Given the description of an element on the screen output the (x, y) to click on. 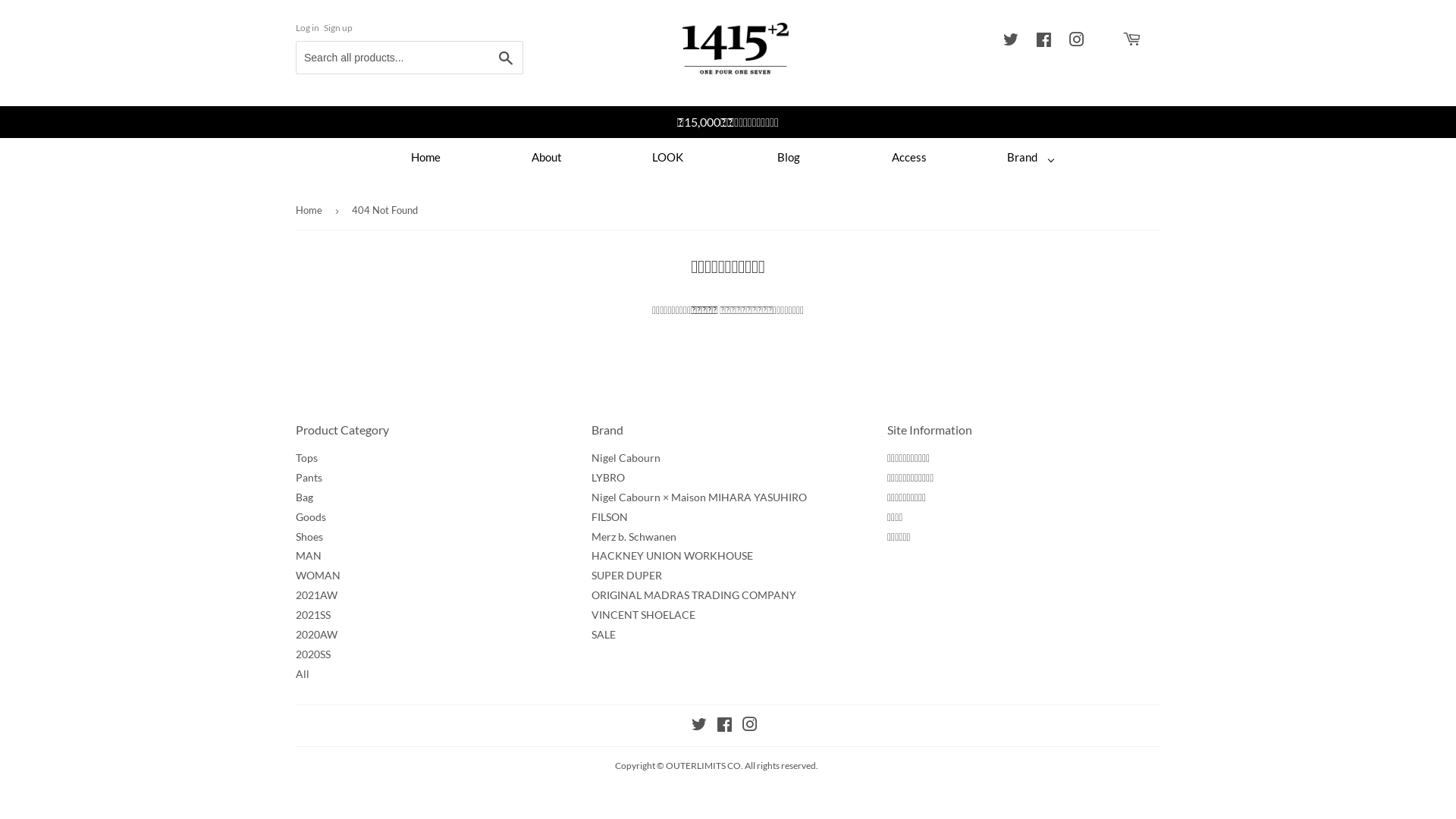
Facebook Element type: text (1043, 40)
Home Element type: text (311, 210)
Bag Element type: text (304, 496)
Twitter Element type: text (698, 725)
ORIGINAL MADRAS TRADING COMPANY Element type: text (693, 594)
MAN Element type: text (308, 555)
Goods Element type: text (310, 516)
WOMAN Element type: text (317, 574)
2020SS Element type: text (312, 653)
Twitter Element type: text (1010, 40)
LOOK Element type: text (667, 156)
FILSON Element type: text (609, 516)
SUPER DUPER Element type: text (626, 574)
Pants Element type: text (308, 476)
HACKNEY UNION WORKHOUSE Element type: text (672, 555)
Facebook Element type: text (723, 725)
Nigel Cabourn Element type: text (625, 457)
Sign up Element type: text (337, 27)
Tops Element type: text (306, 457)
LYBRO Element type: text (607, 476)
2021SS Element type: text (312, 614)
Brand Element type: text (1030, 156)
All Element type: text (302, 673)
Merz b. Schwanen Element type: text (633, 536)
About Element type: text (546, 156)
Home Element type: text (425, 156)
Shoes Element type: text (309, 536)
Access Element type: text (909, 156)
Blog Element type: text (788, 156)
2021AW Element type: text (316, 594)
Instagram Element type: text (748, 725)
2020AW Element type: text (316, 633)
Log in Element type: text (307, 27)
SALE Element type: text (603, 633)
VINCENT SHOELACE Element type: text (643, 614)
Instagram Element type: text (1076, 40)
